Given the description of an element on the screen output the (x, y) to click on. 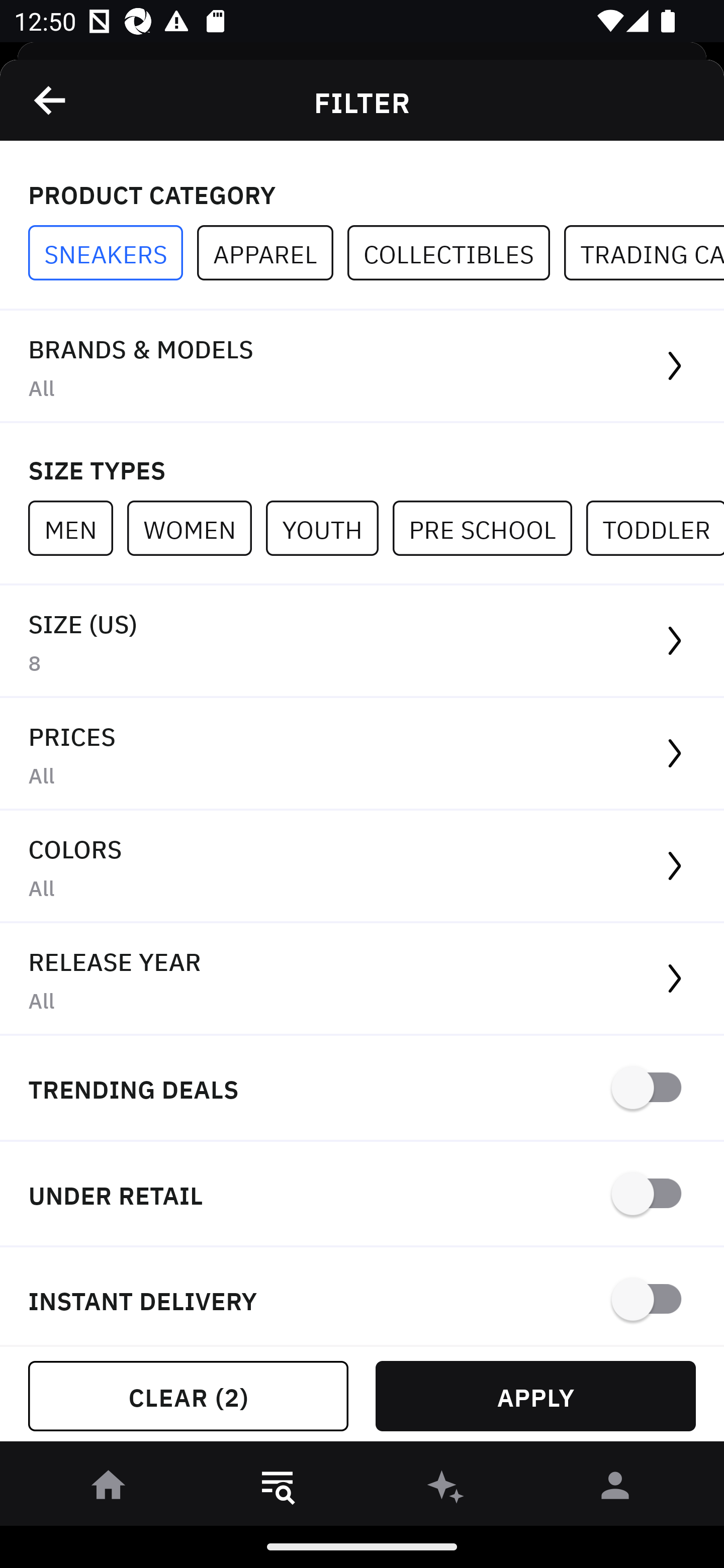
 (50, 100)
SNEAKERS (112, 252)
APPAREL (271, 252)
COLLECTIBLES (455, 252)
TRADING CARDS (643, 252)
BRANDS & MODELS All (362, 366)
MEN (77, 527)
WOMEN (196, 527)
YOUTH (328, 527)
PRE SCHOOL (489, 527)
TODDLER (655, 527)
SIZE (US) 8 (362, 640)
PRICES All (362, 753)
COLORS All (362, 866)
RELEASE YEAR All (362, 979)
TRENDING DEALS (362, 1088)
UNDER RETAIL (362, 1194)
INSTANT DELIVERY (362, 1296)
CLEAR (2) (188, 1396)
APPLY (535, 1396)
󰋜 (108, 1488)
󱎸 (277, 1488)
󰫢 (446, 1488)
󰀄 (615, 1488)
